Given the description of an element on the screen output the (x, y) to click on. 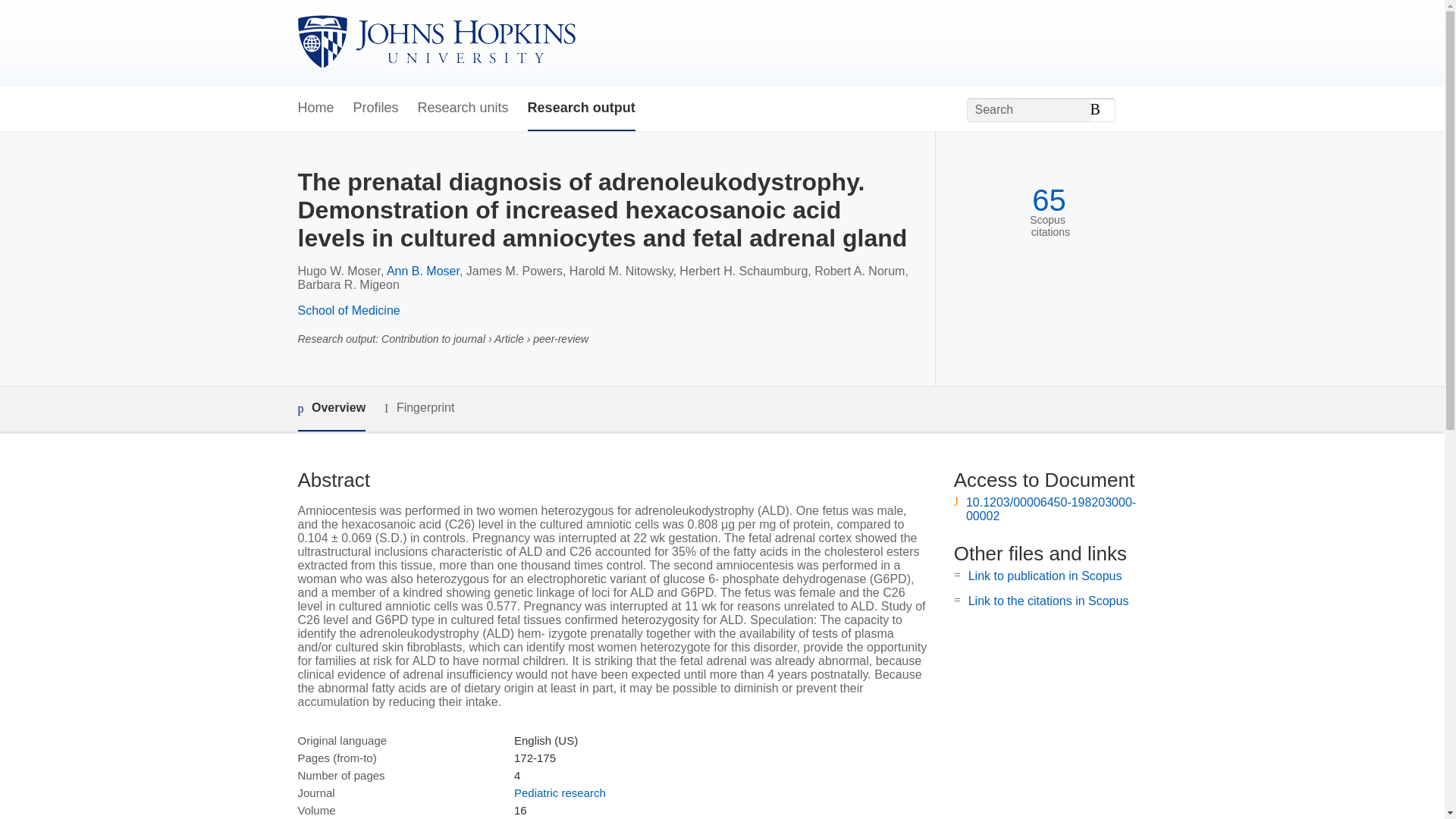
65 (1048, 200)
Overview (331, 408)
Link to publication in Scopus (1045, 575)
Pediatric research (559, 792)
Profiles (375, 108)
Fingerprint (419, 407)
Research output (580, 108)
Johns Hopkins University Home (436, 43)
School of Medicine (347, 309)
Ann B. Moser (423, 270)
Research units (462, 108)
Link to the citations in Scopus (1048, 600)
